Given the description of an element on the screen output the (x, y) to click on. 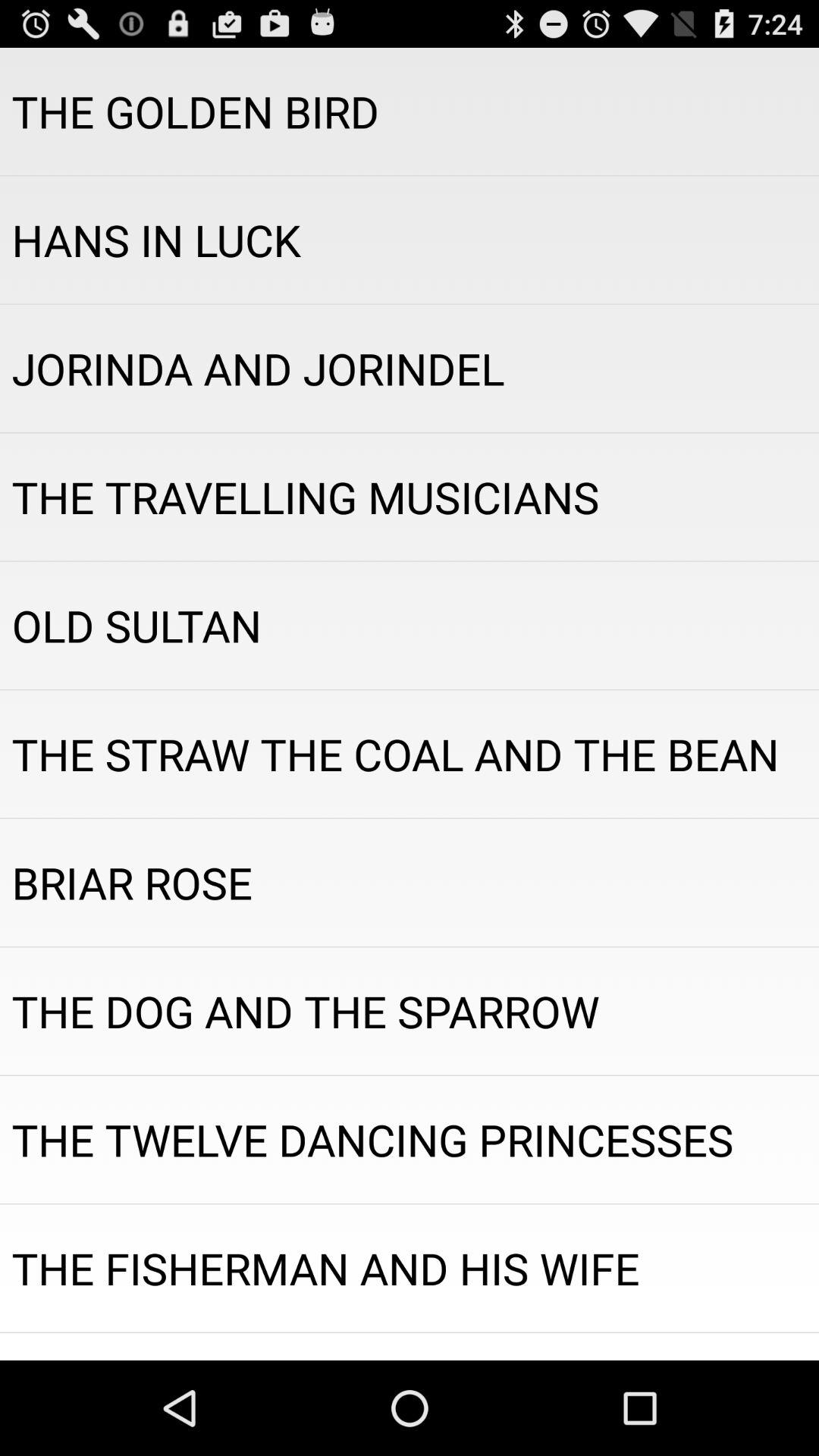
turn on app above the jorinda and jorindel app (409, 239)
